Given the description of an element on the screen output the (x, y) to click on. 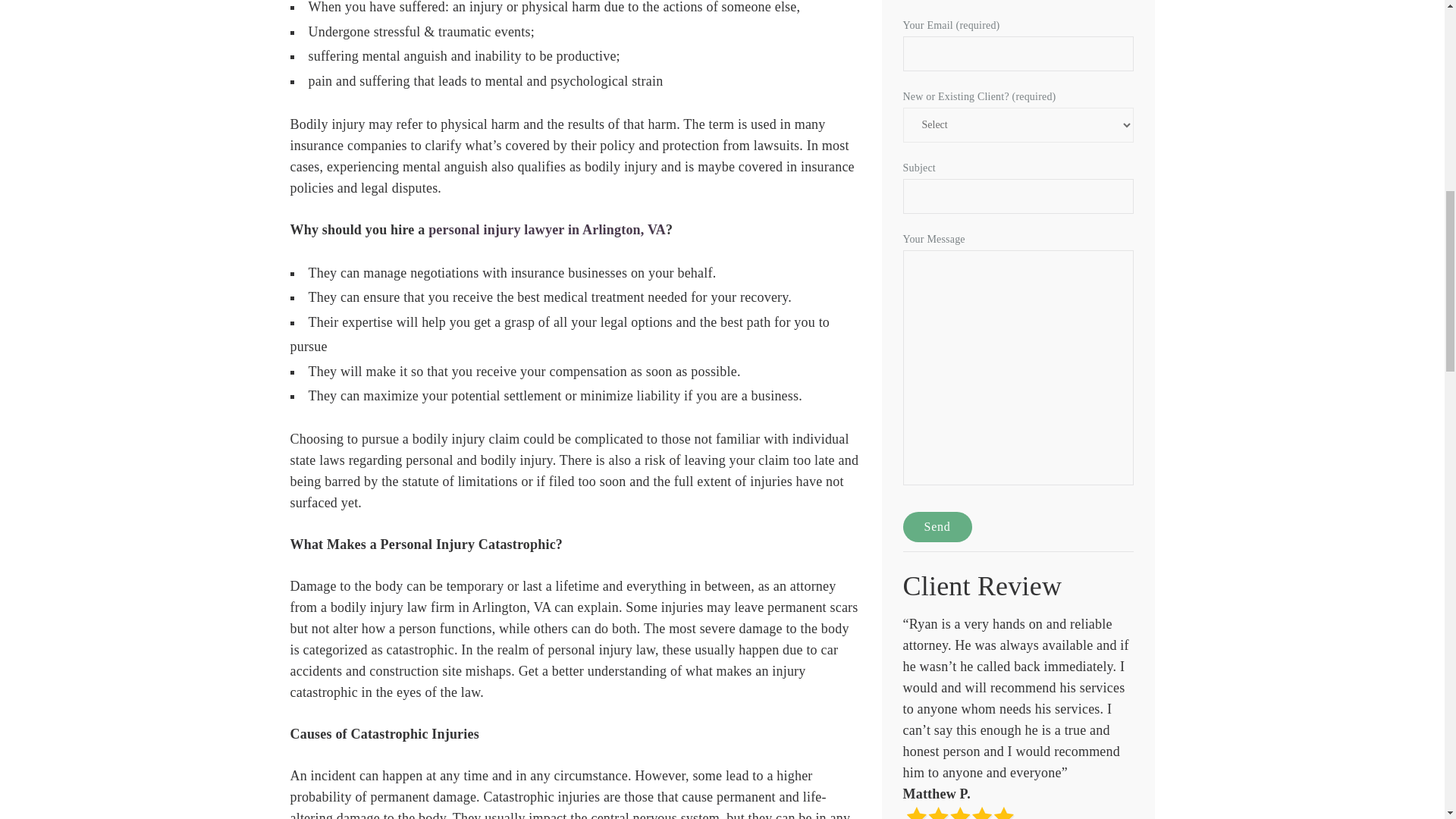
Send (937, 526)
Send (937, 526)
personal injury lawyer in Arlington, VA (546, 229)
